Given the description of an element on the screen output the (x, y) to click on. 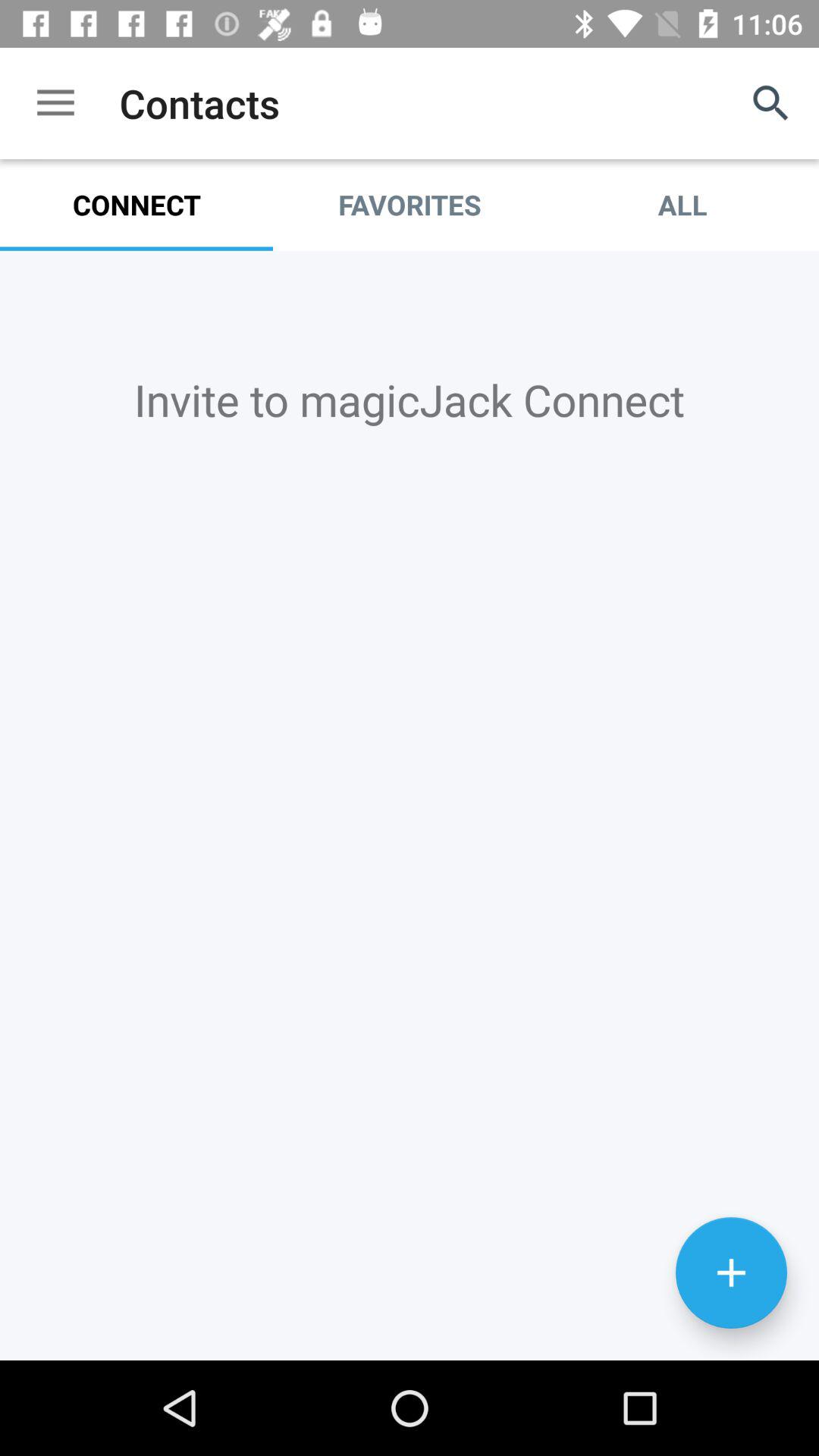
tap the icon below contacts (409, 204)
